Given the description of an element on the screen output the (x, y) to click on. 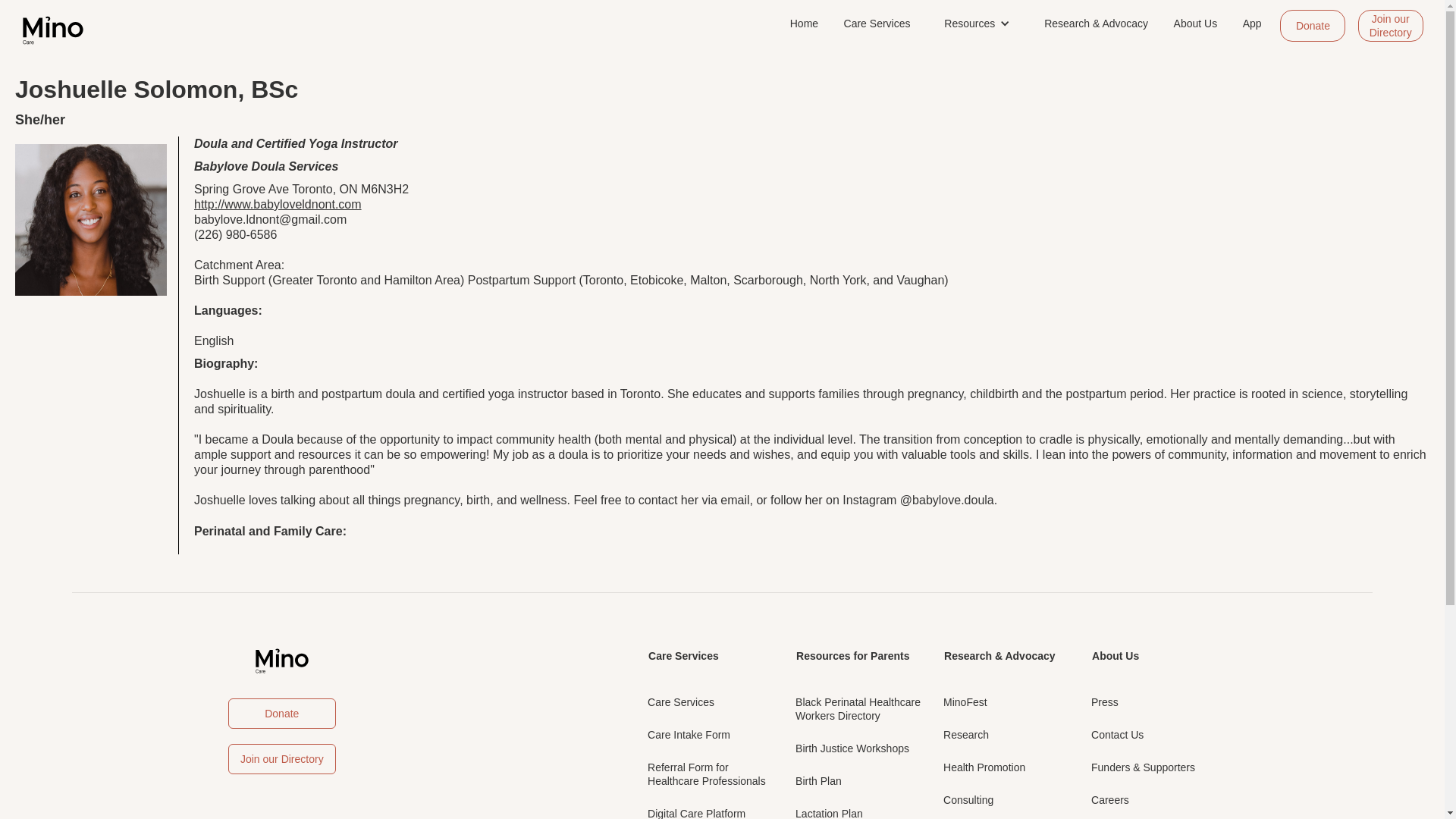
Birth Plan (817, 780)
Home (804, 23)
Digital Care Platform (696, 807)
About Us (1195, 23)
Resources for Parents (857, 708)
Contact Us (852, 655)
Press (1116, 734)
Birth Justice Workshops (1104, 701)
Care Services (851, 748)
About Us (680, 701)
Consulting (1115, 655)
Care Intake Form (967, 798)
Care Services (688, 734)
Research (683, 655)
